Given the description of an element on the screen output the (x, y) to click on. 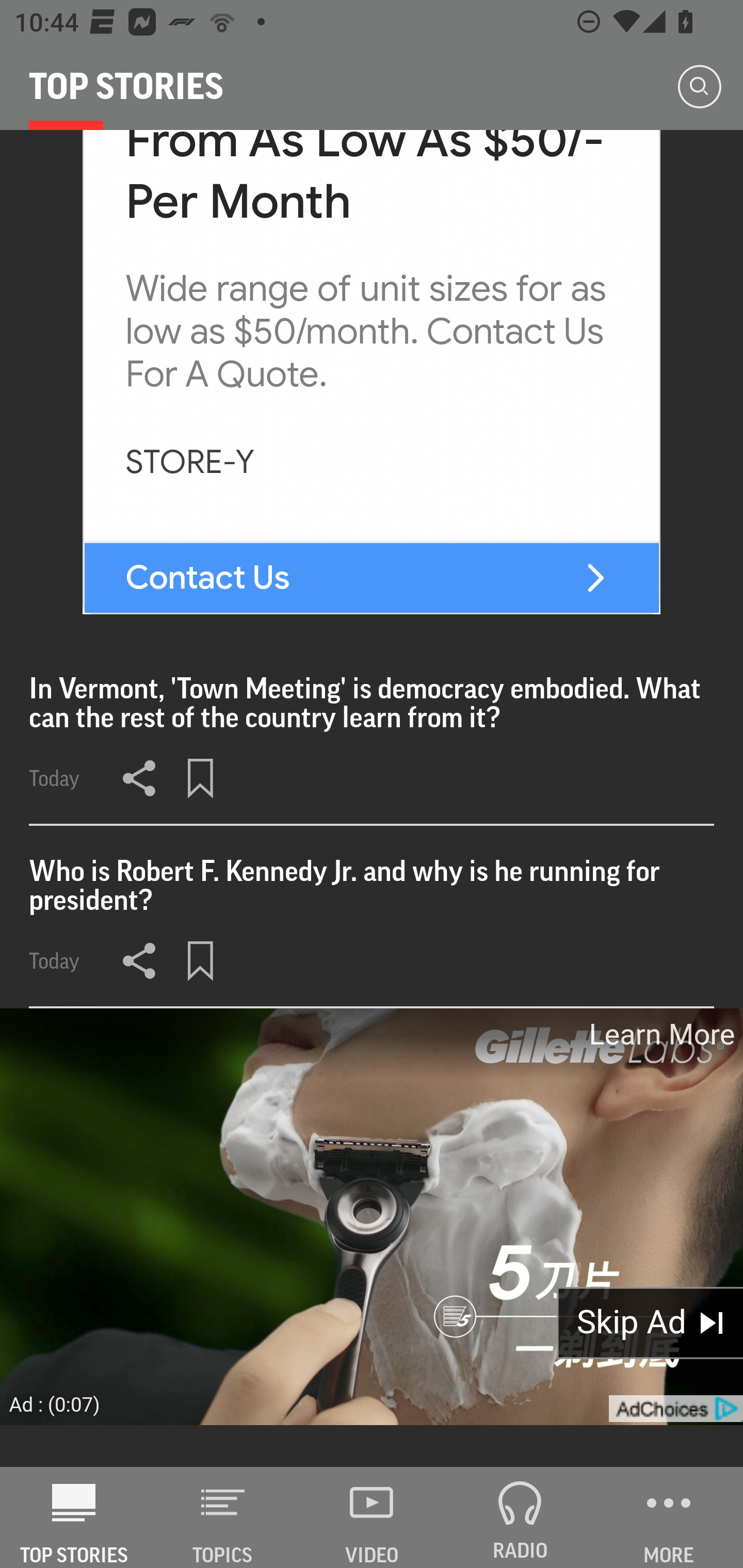
STORE-Y (189, 462)
Contact Us (206, 576)
Learn More (660, 1033)
Skip Ad (649, 1322)
Ad : (0:07) (54, 1403)
get?name=admarker-full-tl (675, 1408)
AP News TOP STORIES (74, 1517)
TOPICS (222, 1517)
VIDEO (371, 1517)
RADIO (519, 1517)
MORE (668, 1517)
